Given the description of an element on the screen output the (x, y) to click on. 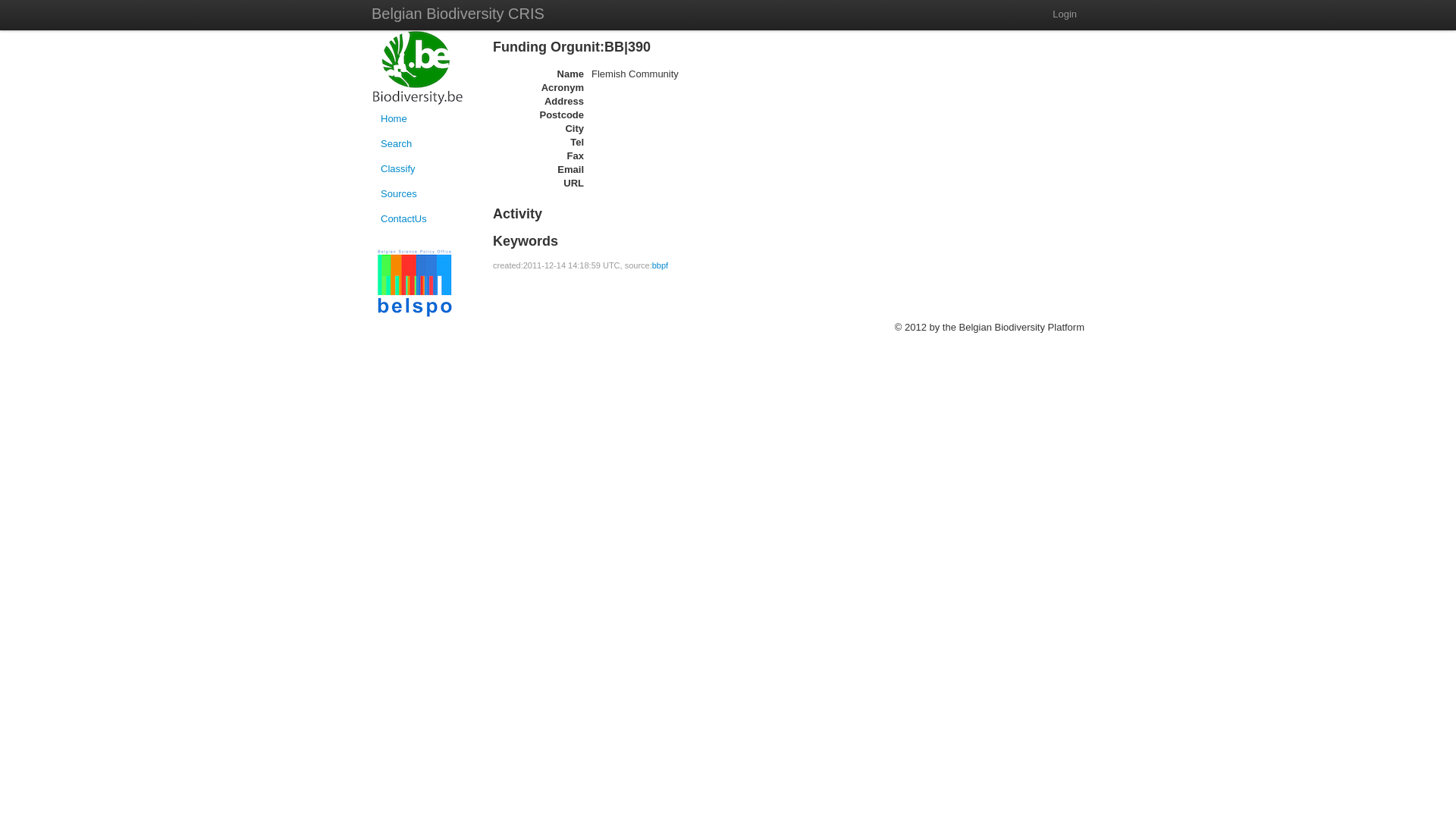
bbpf Element type: text (660, 264)
Sources Element type: text (424, 193)
Classify Element type: text (424, 168)
Search Element type: text (424, 143)
Login Element type: text (1064, 14)
Home Element type: text (424, 118)
Belgian Biodiversity CRIS Element type: text (457, 15)
ContactUs Element type: text (424, 218)
